Given the description of an element on the screen output the (x, y) to click on. 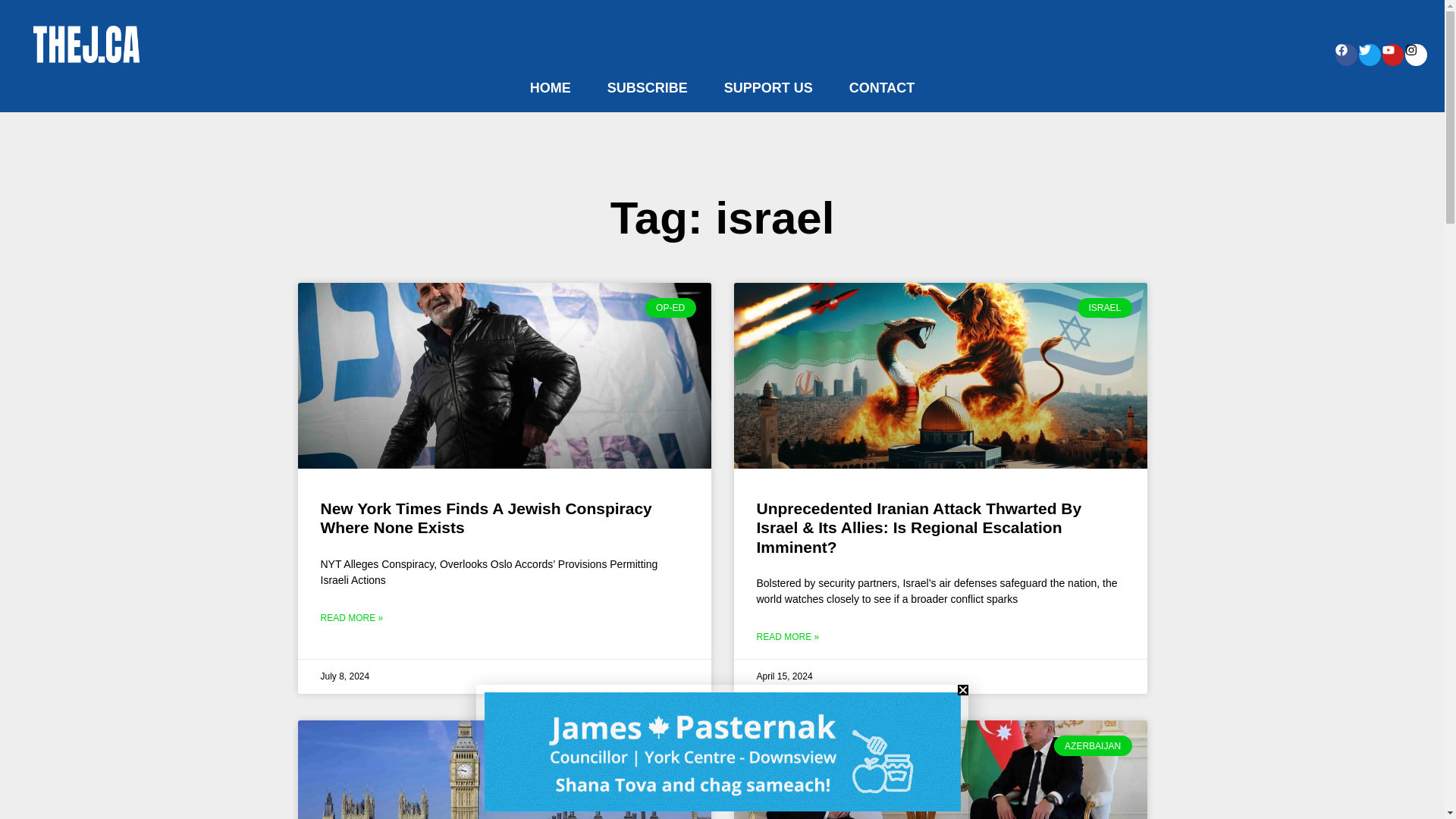
SUPPORT US (768, 87)
CONTACT (882, 87)
SUBSCRIBE (647, 87)
HOME (550, 87)
New York Times Finds A Jewish Conspiracy Where None Exists (485, 517)
